Given the description of an element on the screen output the (x, y) to click on. 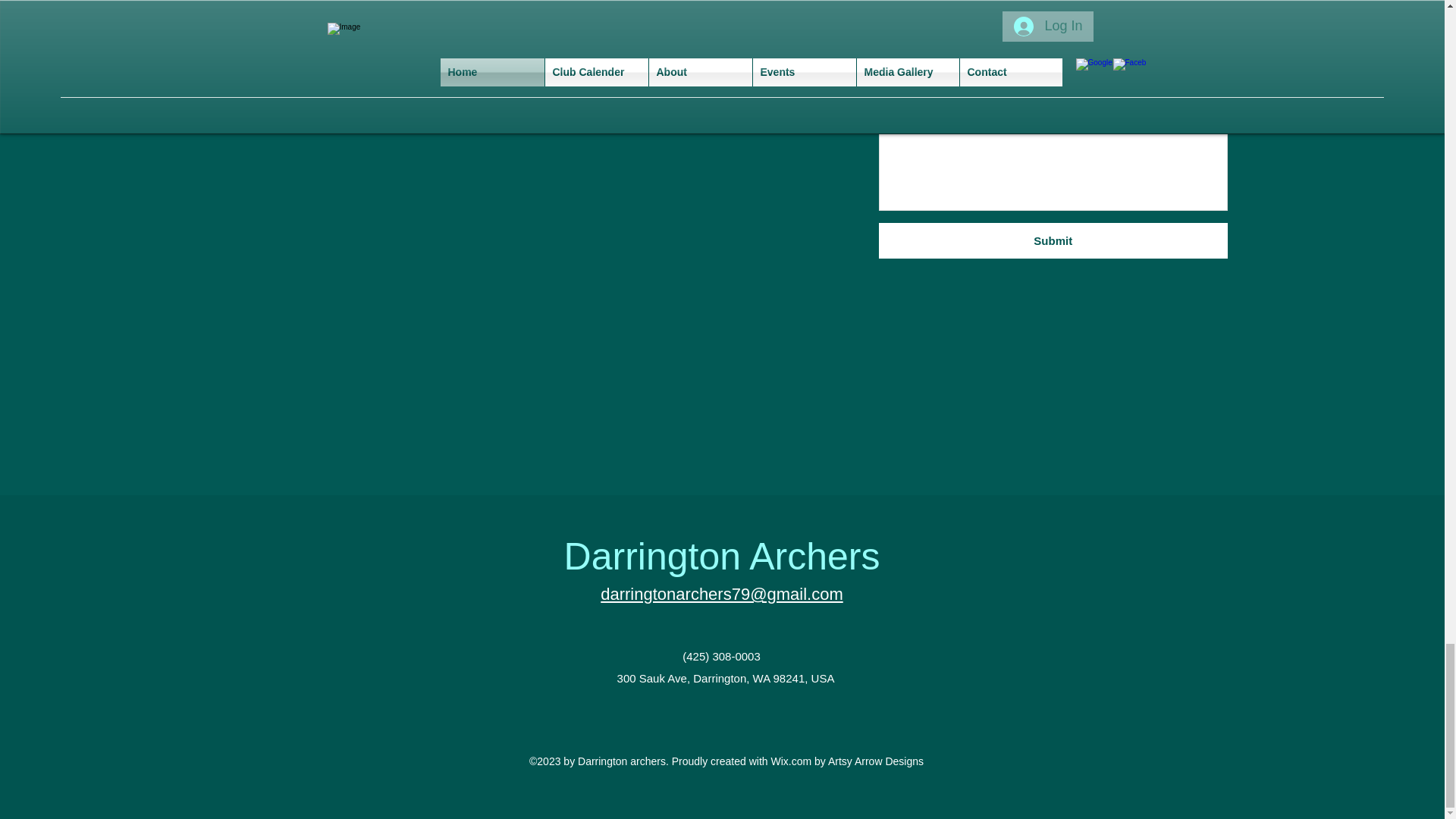
Darrington Archers (722, 556)
Submit (1053, 240)
